Given the description of an element on the screen output the (x, y) to click on. 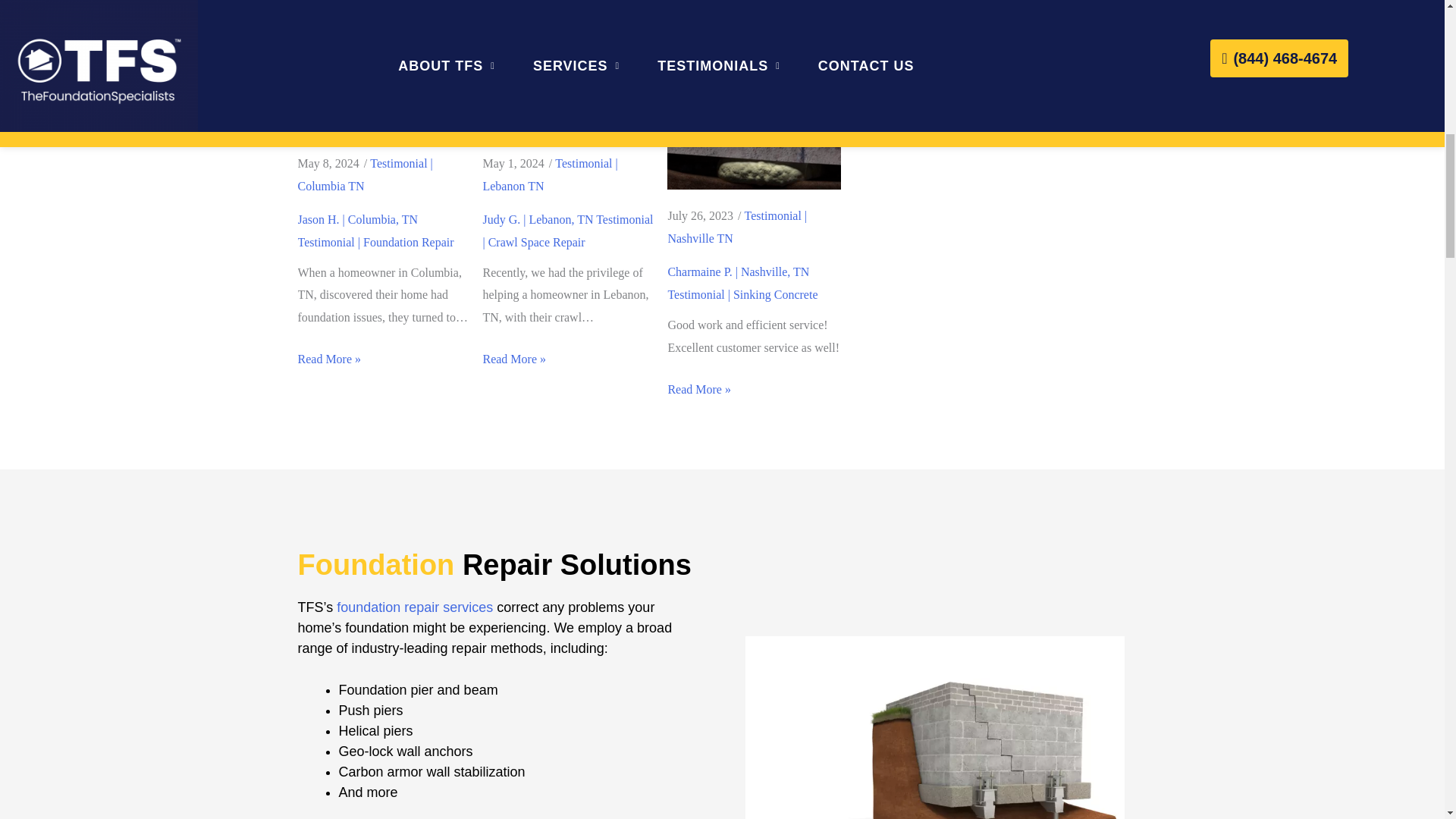
Send Request (1005, 19)
